Given the description of an element on the screen output the (x, y) to click on. 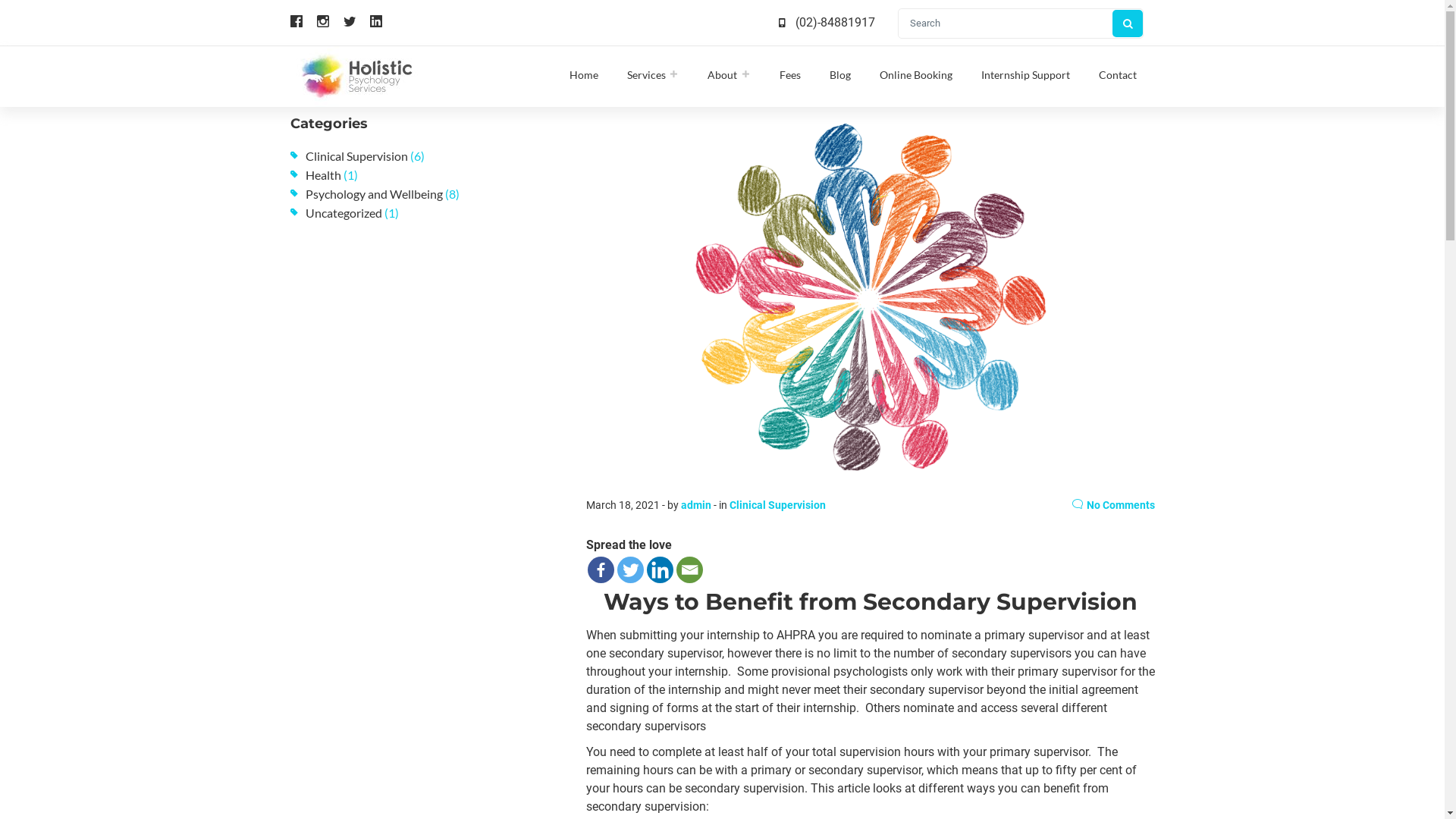
Twitter Element type: hover (630, 569)
No Comments Element type: text (1113, 504)
Linkedin Element type: hover (659, 569)
Email Element type: hover (689, 569)
Clinical Supervision Element type: text (777, 504)
(02)-84881917 Element type: text (835, 23)
Fees Element type: text (789, 73)
About Element type: text (728, 73)
admin Element type: text (695, 504)
Contact Element type: text (1116, 73)
Uncategorized Element type: text (342, 212)
Online Booking Element type: text (916, 73)
Psychology and Wellbeing Element type: text (373, 193)
Home Element type: text (583, 73)
Blog Element type: text (840, 73)
Clinical Supervision Element type: text (355, 155)
Services Element type: text (652, 73)
Health Element type: text (322, 174)
Internship Support Element type: text (1025, 73)
Facebook Element type: hover (599, 569)
